Given the description of an element on the screen output the (x, y) to click on. 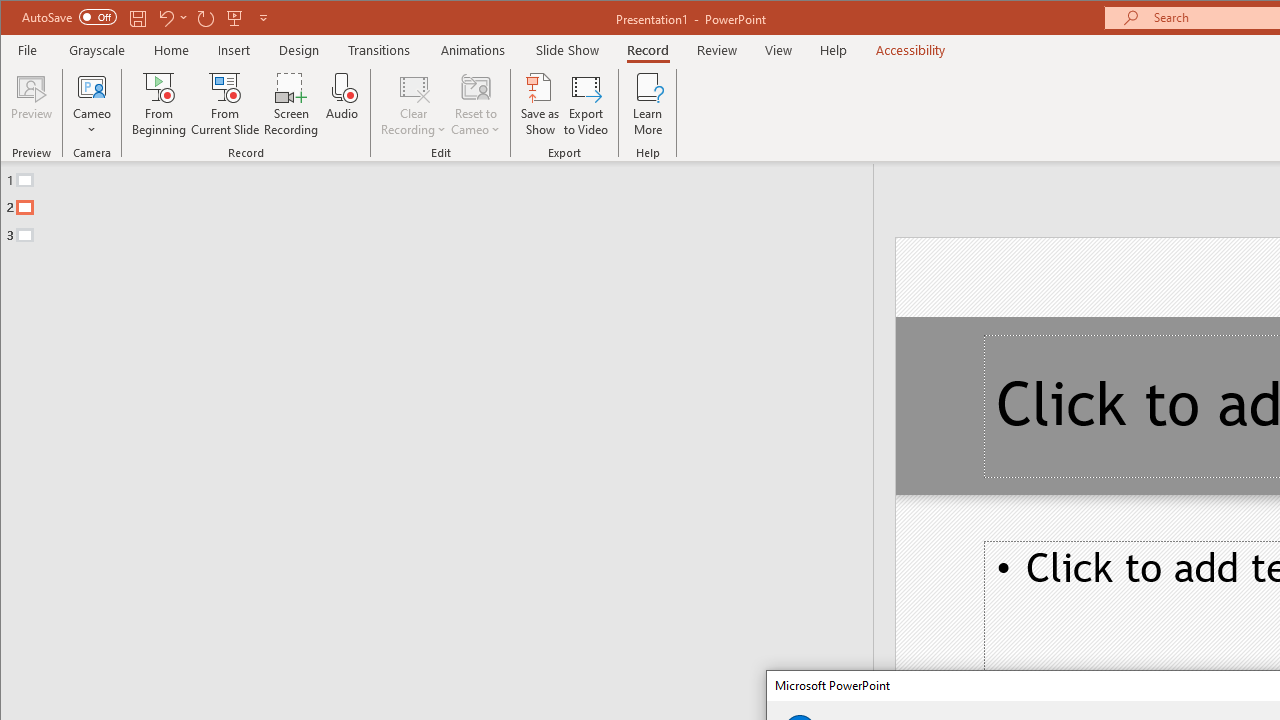
From Beginning... (159, 104)
Save as Show (539, 104)
Reset to Cameo (476, 104)
Outline (445, 203)
